Given the description of an element on the screen output the (x, y) to click on. 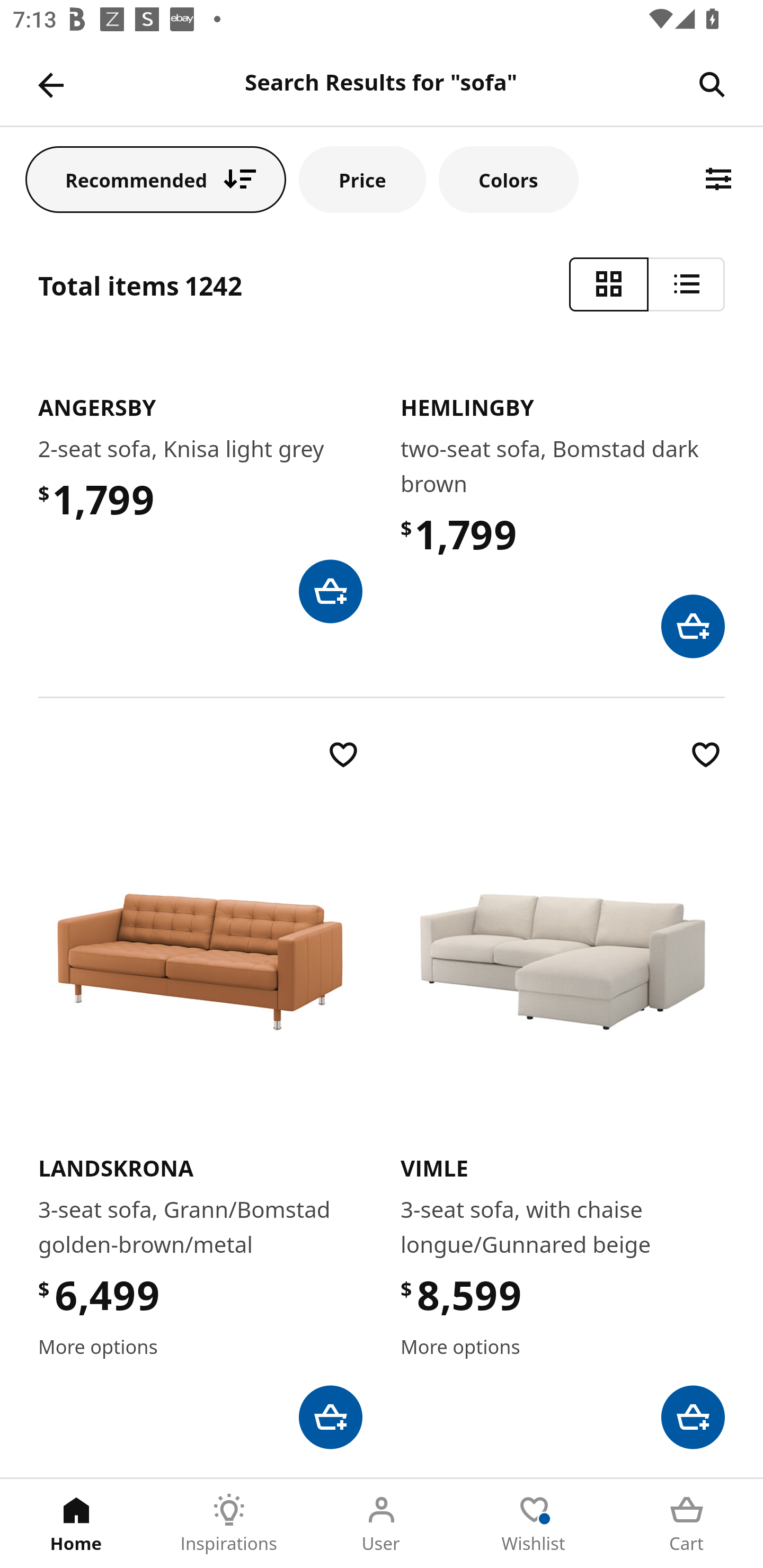
Recommended (155, 179)
Price (362, 179)
Colors (508, 179)
Home
Tab 1 of 5 (76, 1522)
Inspirations
Tab 2 of 5 (228, 1522)
User
Tab 3 of 5 (381, 1522)
Wishlist
Tab 4 of 5 (533, 1522)
Cart
Tab 5 of 5 (686, 1522)
